Given the description of an element on the screen output the (x, y) to click on. 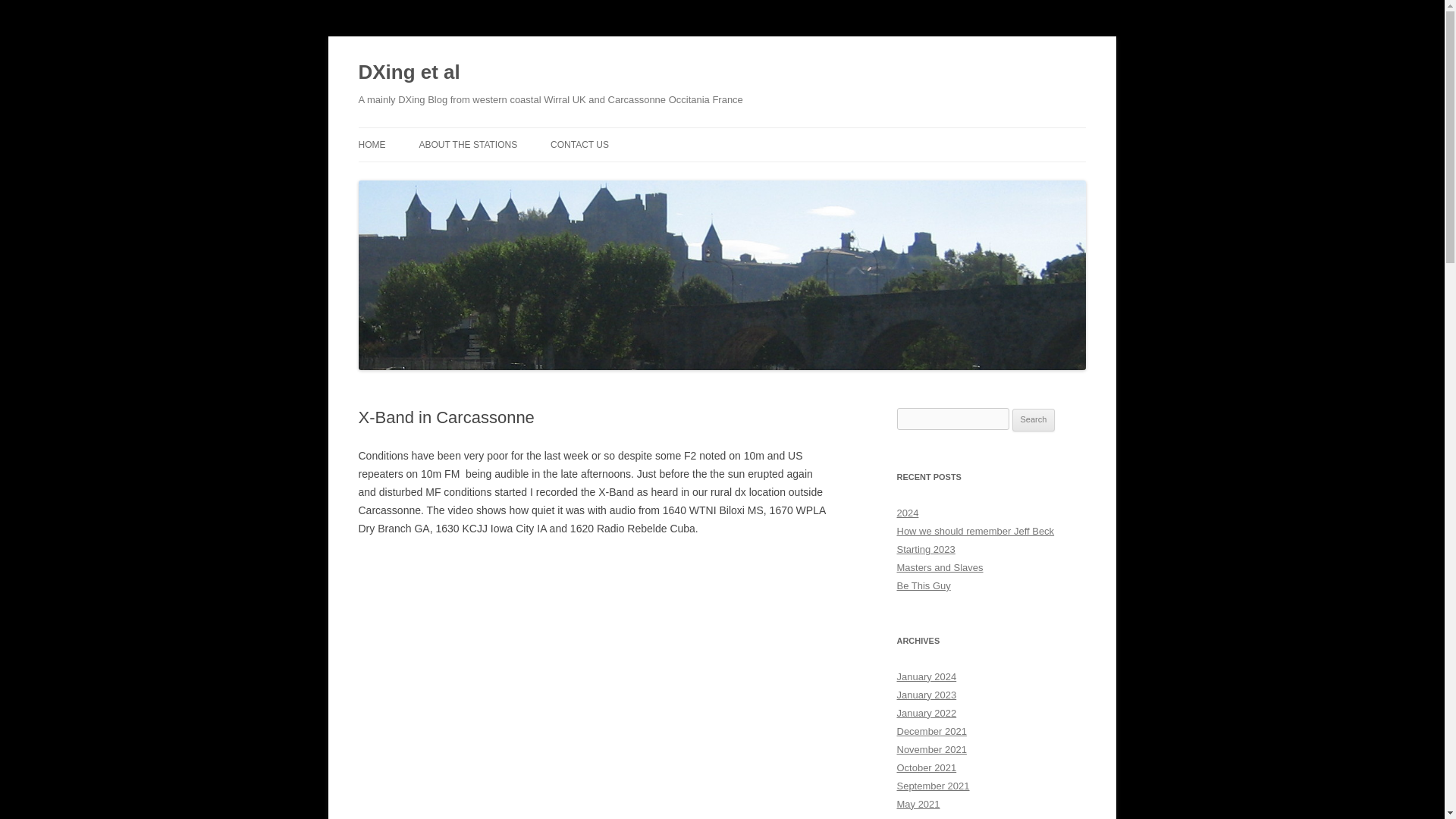
How we should remember Jeff Beck (975, 531)
ABOUT THE STATIONS (467, 144)
Search (1033, 419)
November 2021 (931, 749)
October 2021 (926, 767)
X Band Carcassonne 0430 02 10 2013 (594, 687)
January 2023 (926, 695)
CONTACT US (579, 144)
April 2021 (918, 817)
May 2021 (917, 803)
